Given the description of an element on the screen output the (x, y) to click on. 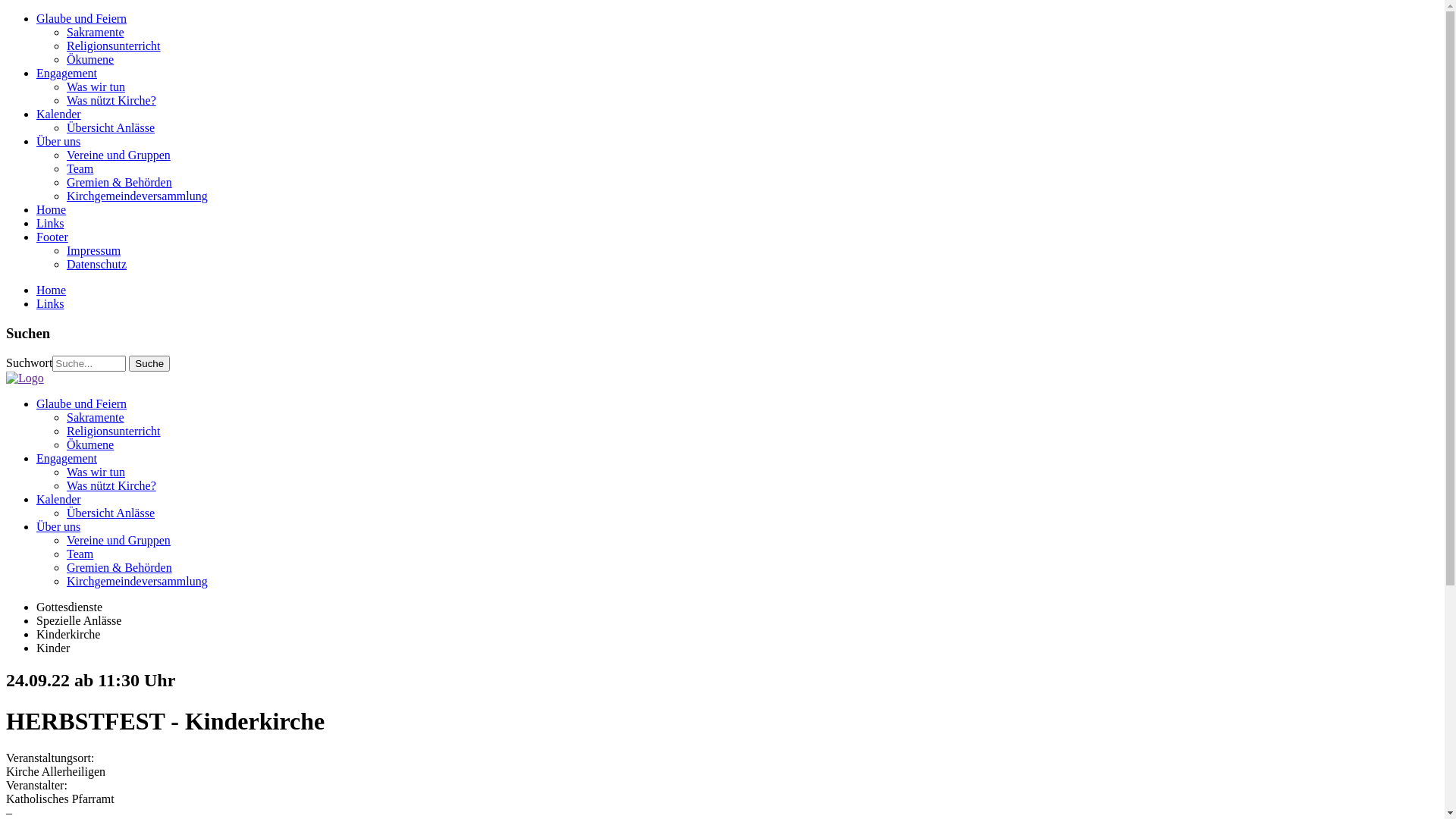
Kirchgemeindeversammlung Element type: text (136, 580)
Datenschutz Element type: text (96, 263)
Team Element type: text (79, 168)
Was wir tun Element type: text (95, 471)
Glaube und Feiern Element type: text (81, 18)
Suche Element type: text (148, 363)
Sakramente Element type: text (95, 31)
Kalender Element type: text (58, 498)
Religionsunterricht Element type: text (113, 45)
Links Element type: text (49, 222)
Kalender Element type: text (58, 113)
Impressum Element type: text (93, 250)
Engagement Element type: text (66, 457)
Glaube und Feiern Element type: text (81, 403)
Vereine und Gruppen Element type: text (118, 539)
Home Element type: text (50, 209)
Footer Element type: text (52, 236)
Vereine und Gruppen Element type: text (118, 154)
Home Element type: text (50, 289)
Was wir tun Element type: text (95, 86)
Team Element type: text (79, 553)
Religionsunterricht Element type: text (113, 430)
Kirchgemeindeversammlung Element type: text (136, 195)
Sakramente Element type: text (95, 417)
Links Element type: text (49, 303)
Engagement Element type: text (66, 72)
